Given the description of an element on the screen output the (x, y) to click on. 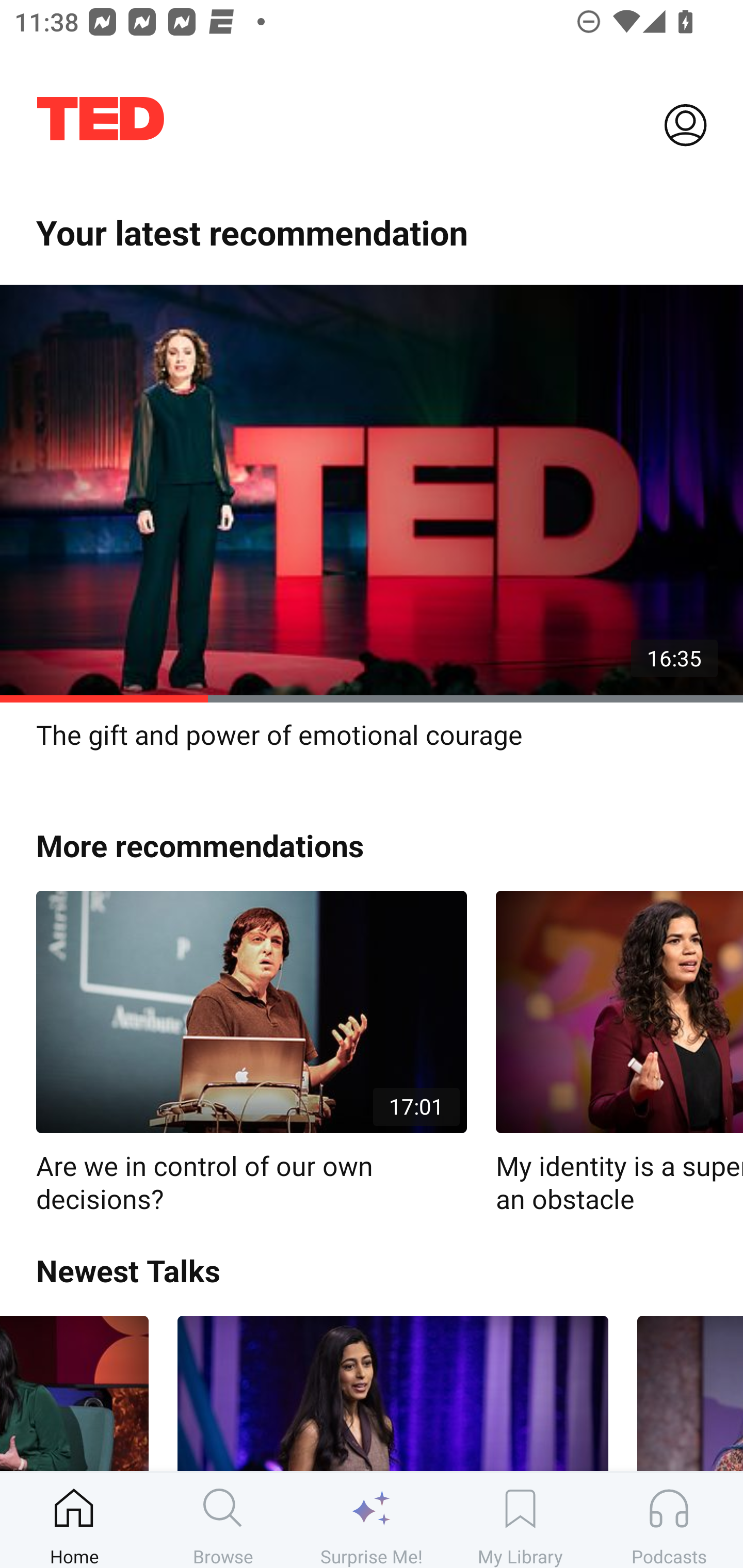
17:01 Are we in control of our own decisions? (251, 1053)
My identity is a superpower -- not an obstacle (619, 1053)
Home (74, 1520)
Browse (222, 1520)
Surprise Me! (371, 1520)
My Library (519, 1520)
Podcasts (668, 1520)
